Given the description of an element on the screen output the (x, y) to click on. 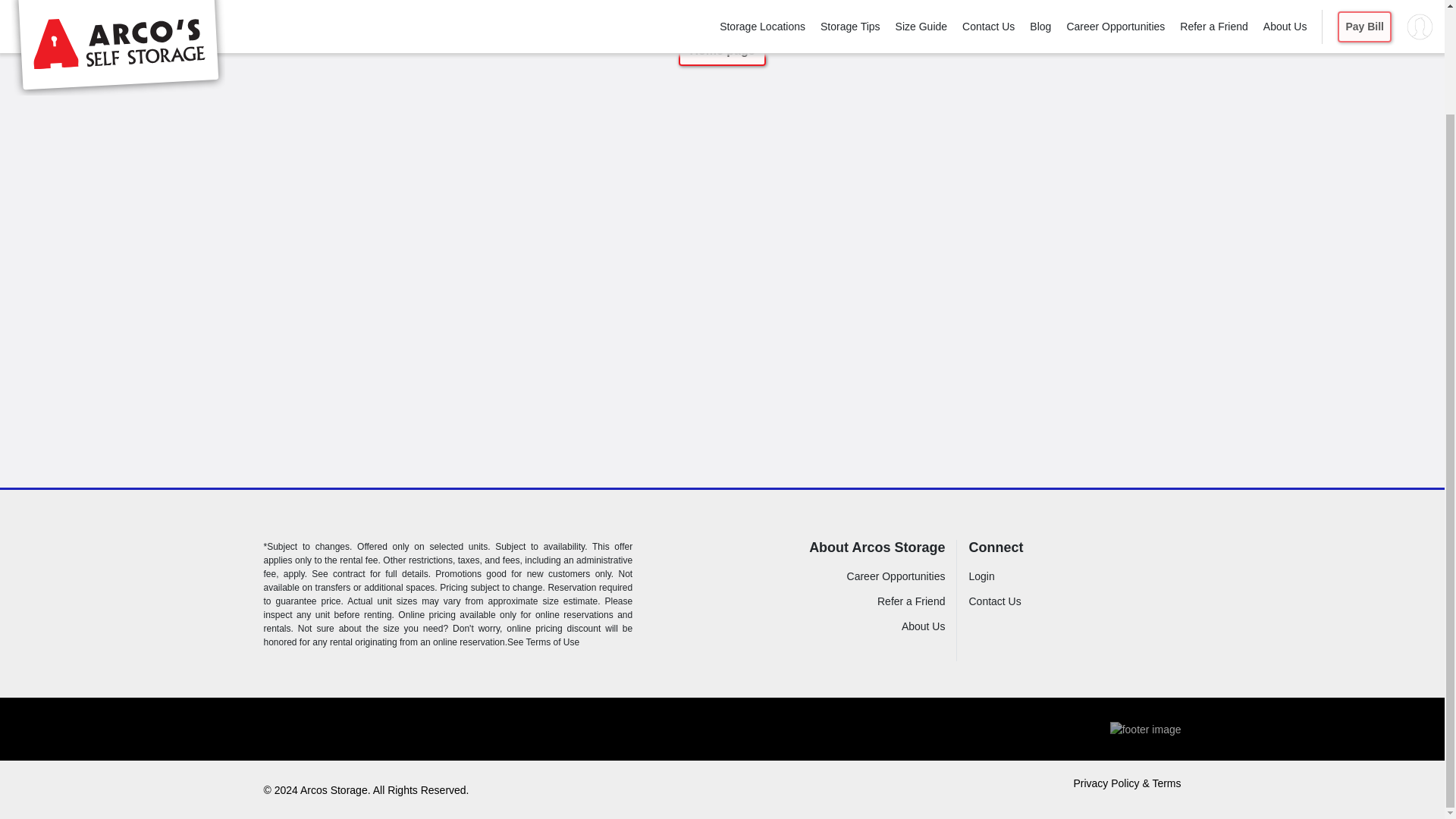
Career Opportunities (895, 576)
Refer a Friend (910, 601)
See Terms of Use (542, 642)
Contact Us (1035, 601)
Contact Us (1035, 601)
Home page (721, 51)
About Us (922, 625)
